Given the description of an element on the screen output the (x, y) to click on. 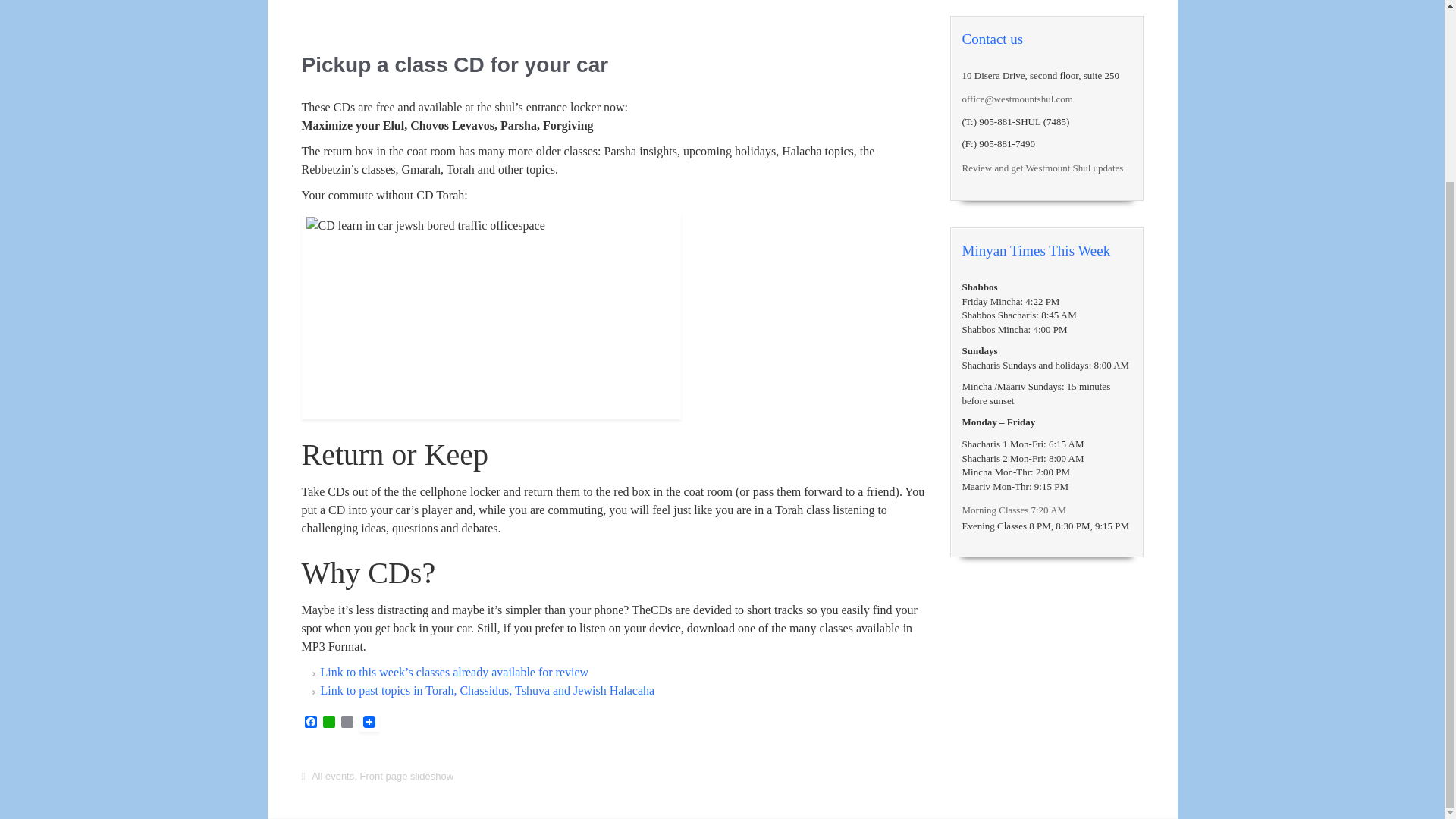
Email (346, 722)
WhatsApp (328, 722)
Facebook (310, 722)
